Given the description of an element on the screen output the (x, y) to click on. 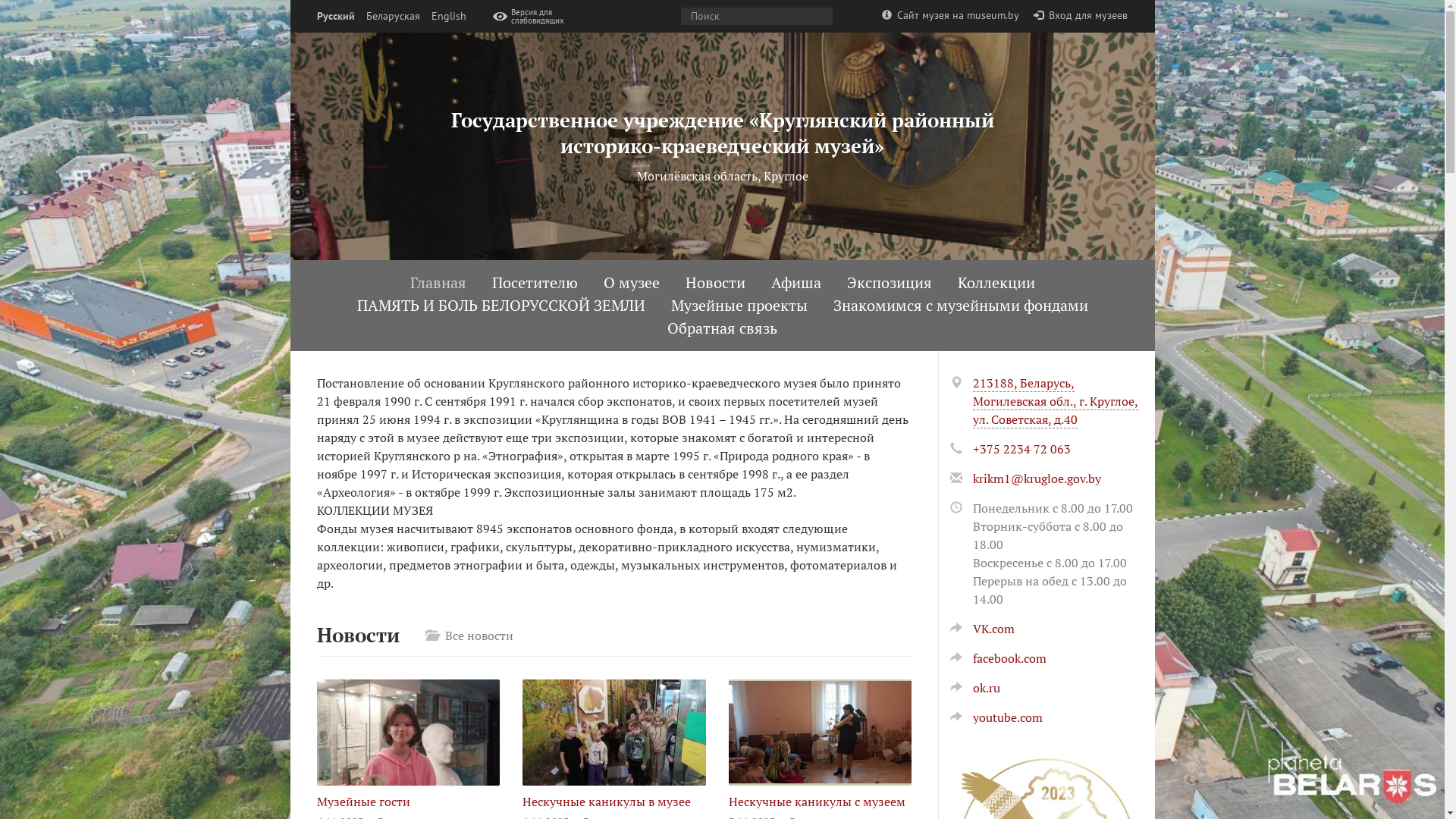
facebook.com Element type: text (997, 657)
ok.ru Element type: text (974, 687)
youtube.com Element type: text (995, 717)
krikm1@krugloe.gov.by Element type: text (1036, 478)
VK.com Element type: text (981, 628)
+375 2234 72 063 Element type: text (1021, 448)
English Element type: text (447, 16)
